Given the description of an element on the screen output the (x, y) to click on. 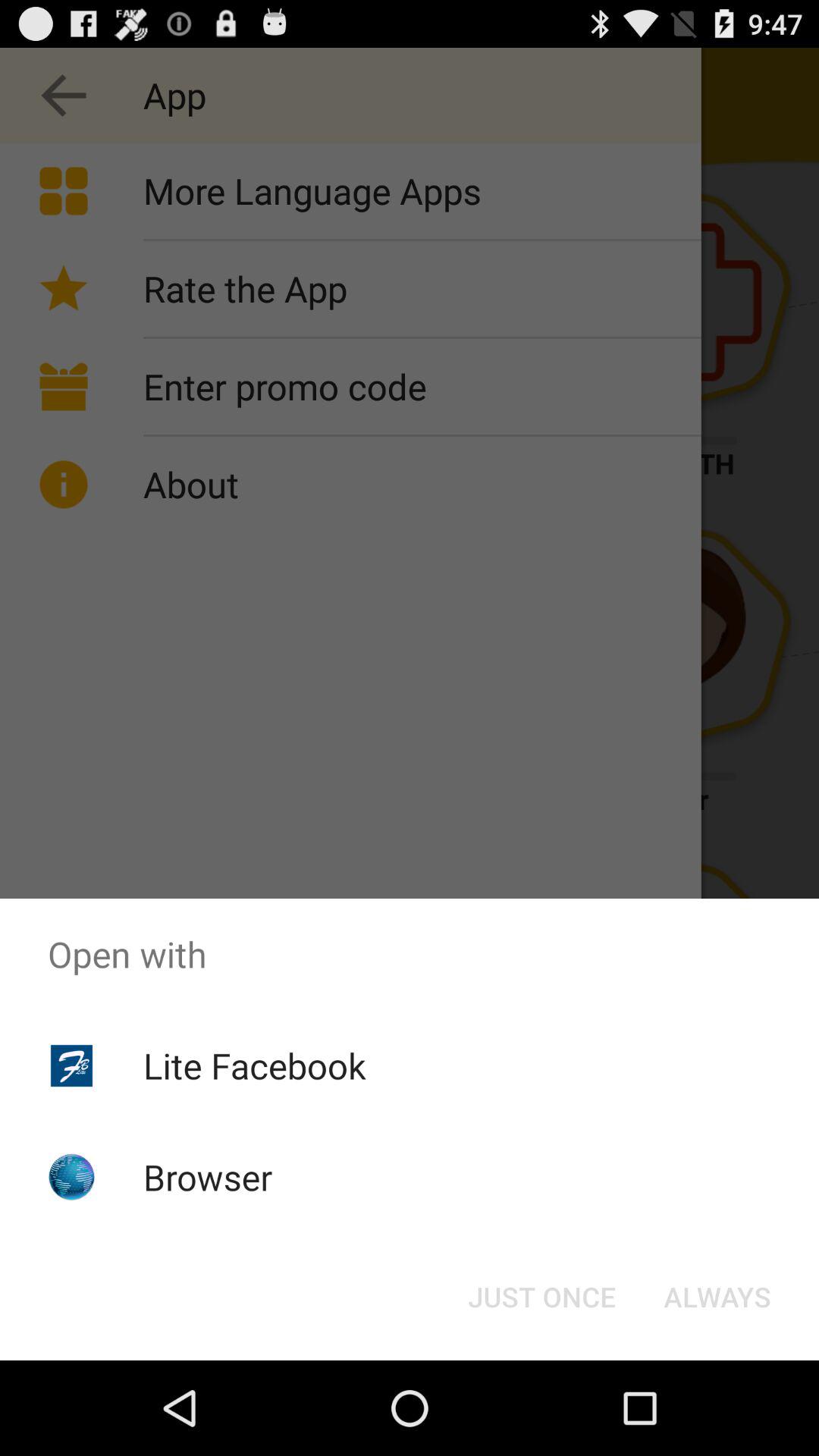
choose the button to the left of always button (541, 1296)
